Given the description of an element on the screen output the (x, y) to click on. 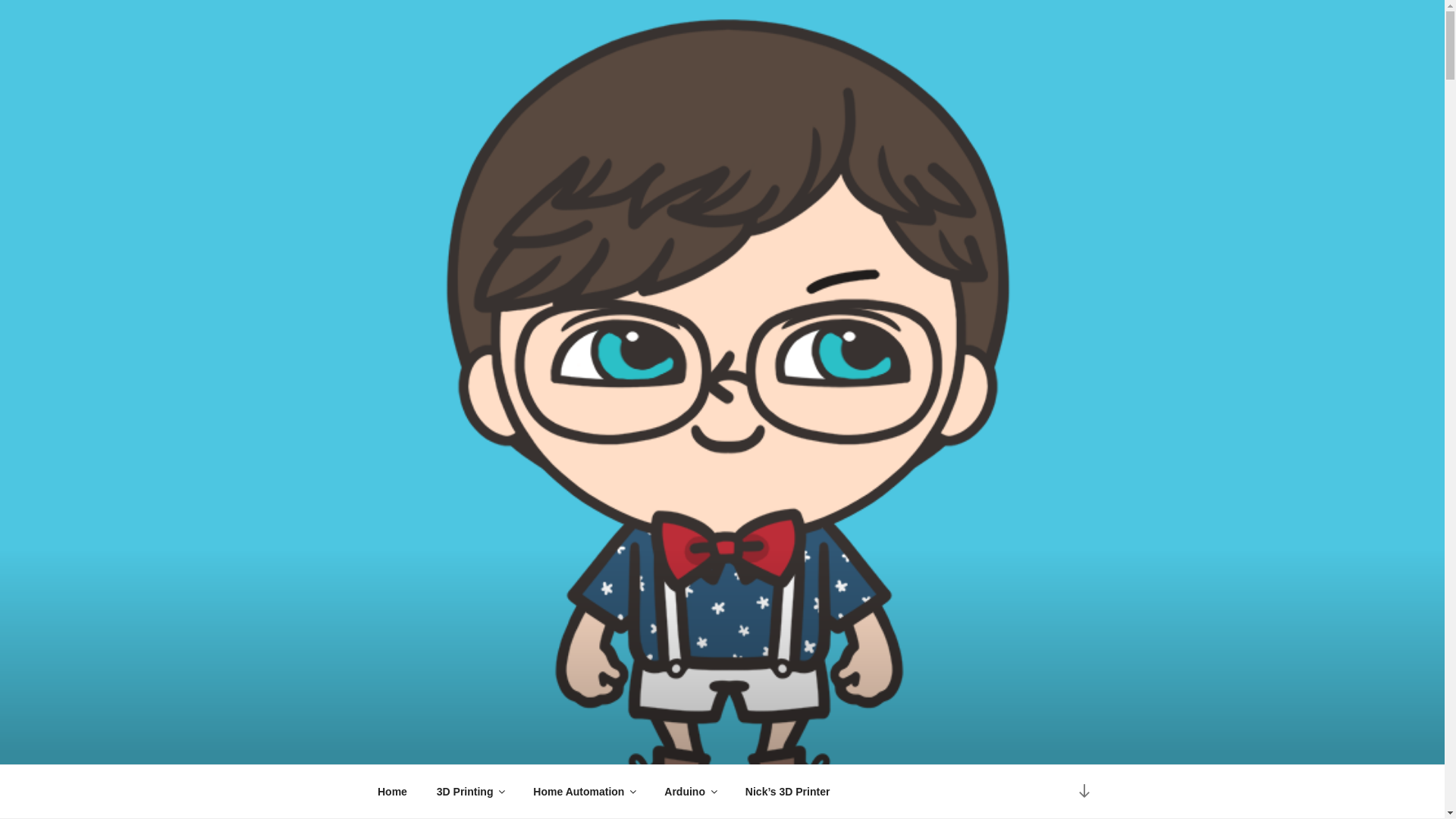
3D Printing (469, 791)
Scroll down to content (1082, 791)
Home (392, 791)
Home Automation (583, 791)
Arduino (689, 791)
SMILENERD (468, 746)
Scroll down to content (1082, 791)
